Given the description of an element on the screen output the (x, y) to click on. 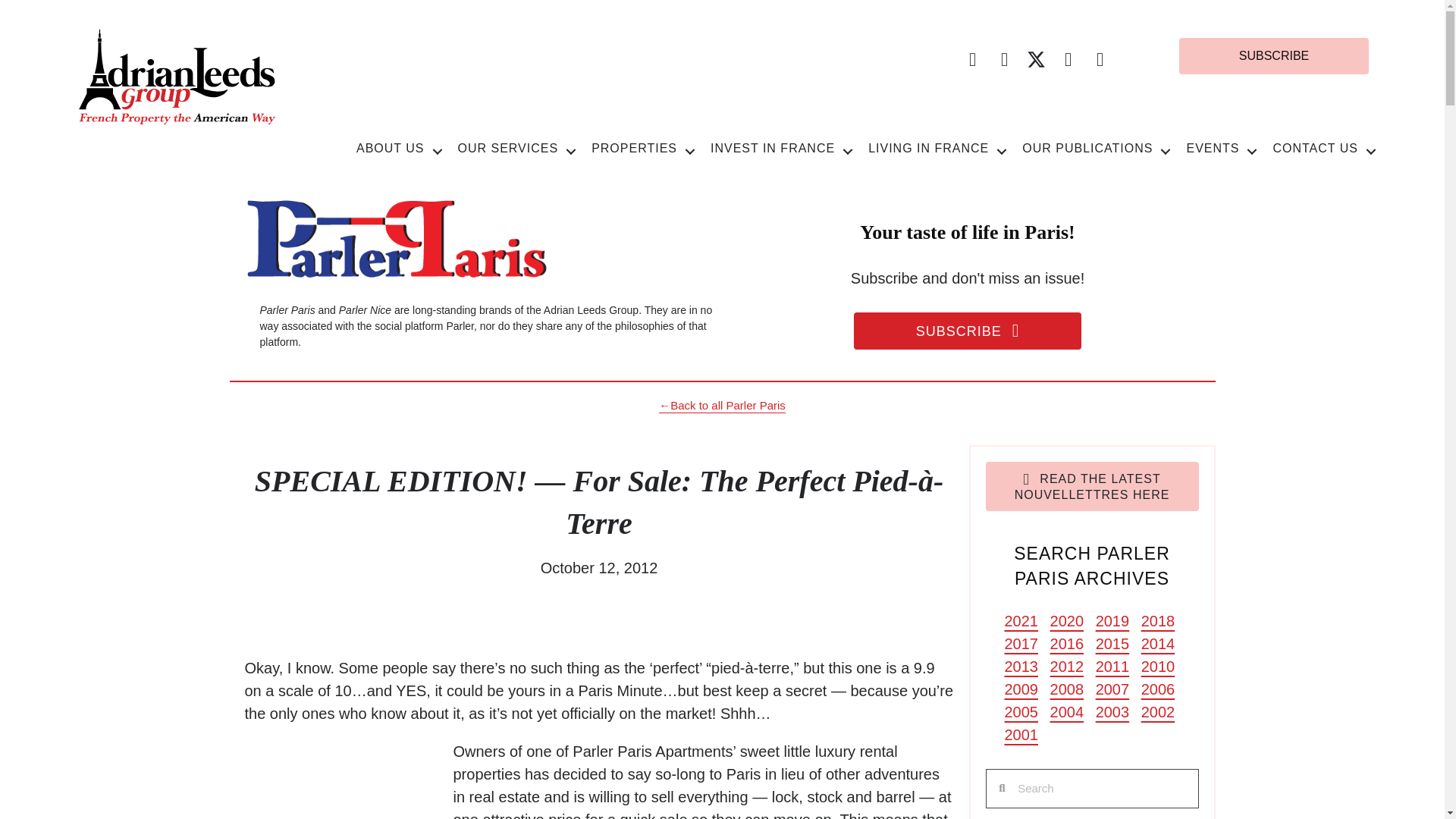
LIVING IN FRANCE (937, 147)
ALG-Parler-Paris-Logo (395, 239)
Facebook (972, 59)
PROPERTIES (643, 147)
LinkedIn (1099, 59)
Instagram (1068, 59)
ABOUT US (399, 147)
YouTube (1004, 59)
OUR SERVICES (517, 147)
Le Grand Ciel (348, 779)
